Given the description of an element on the screen output the (x, y) to click on. 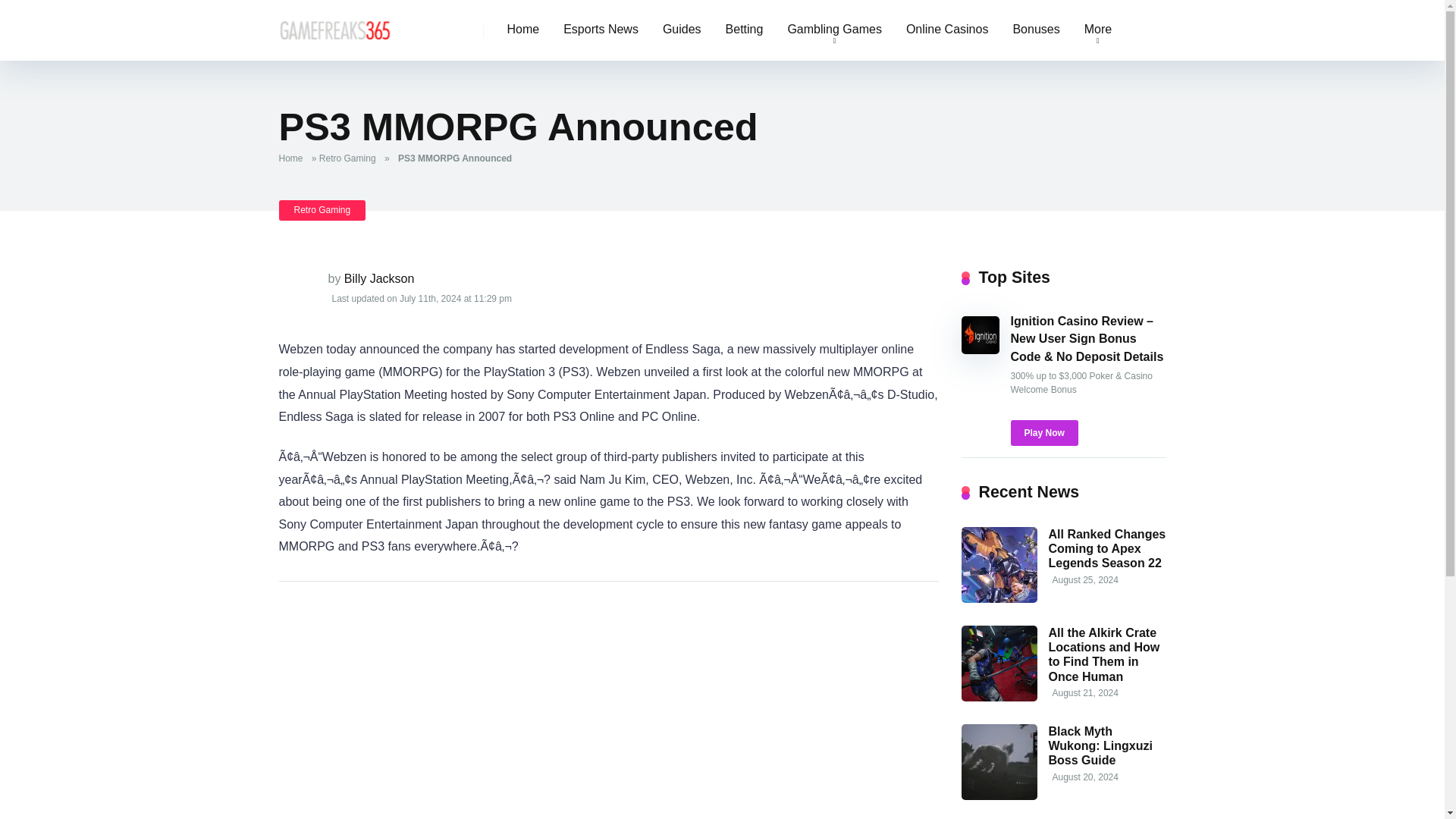
Retro Gaming (349, 158)
Black Myth Wukong: Lingxuzi Boss Guide (998, 795)
Billy Jackson (378, 278)
Play Now (1043, 432)
All Ranked Changes Coming to Apex Legends Season 22 (1107, 548)
Retro Gaming (322, 209)
All Ranked Changes Coming to Apex Legends Season 22 (1107, 548)
Guides (681, 30)
